Given the description of an element on the screen output the (x, y) to click on. 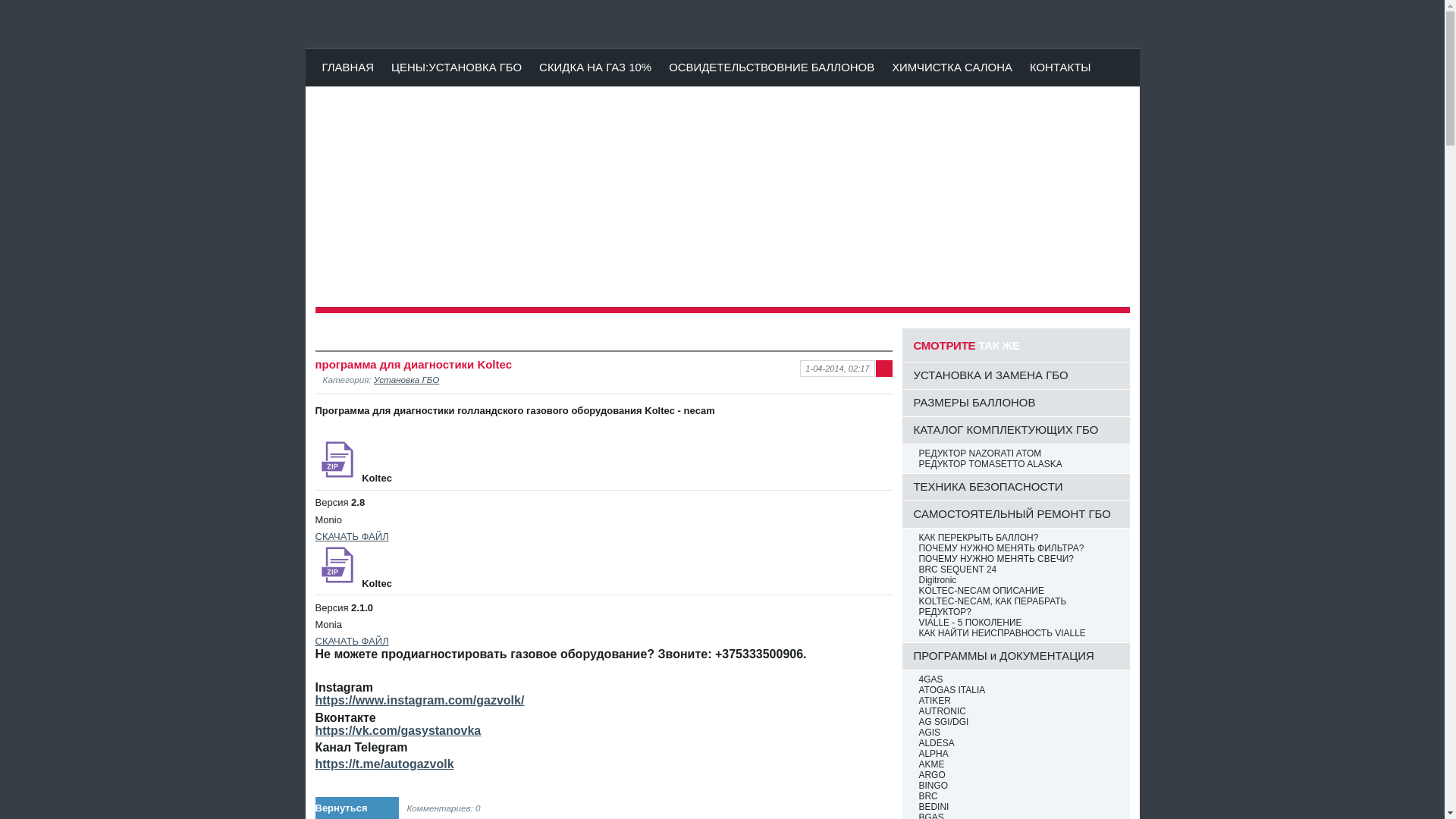
Digitronic Element type: text (1018, 579)
https://www.instagram.com/gazvolk/ Element type: text (419, 699)
https://vk.com/gasystanovka Element type: text (398, 730)
BRC Element type: text (1018, 795)
ALPHA Element type: text (1018, 753)
AUTRONIC Element type: text (1018, 711)
4GAS Element type: text (1018, 679)
ARGO Element type: text (1018, 774)
BRC SEQUENT 24 Element type: text (1018, 569)
> Element type: text (316, 205)
AKME Element type: text (1018, 764)
ALDESA Element type: text (1018, 742)
< Element type: text (1127, 205)
BEDINI Element type: text (1018, 806)
AG SGI/DGI Element type: text (1018, 721)
ATIKER Element type: text (1018, 700)
BINGO Element type: text (1018, 785)
ATOGAS ITALIA Element type: text (1018, 689)
https://t.me/autogazvolk Element type: text (384, 763)
AGIS Element type: text (1018, 732)
1-04-2014, 02:17 Element type: text (837, 368)
